Given the description of an element on the screen output the (x, y) to click on. 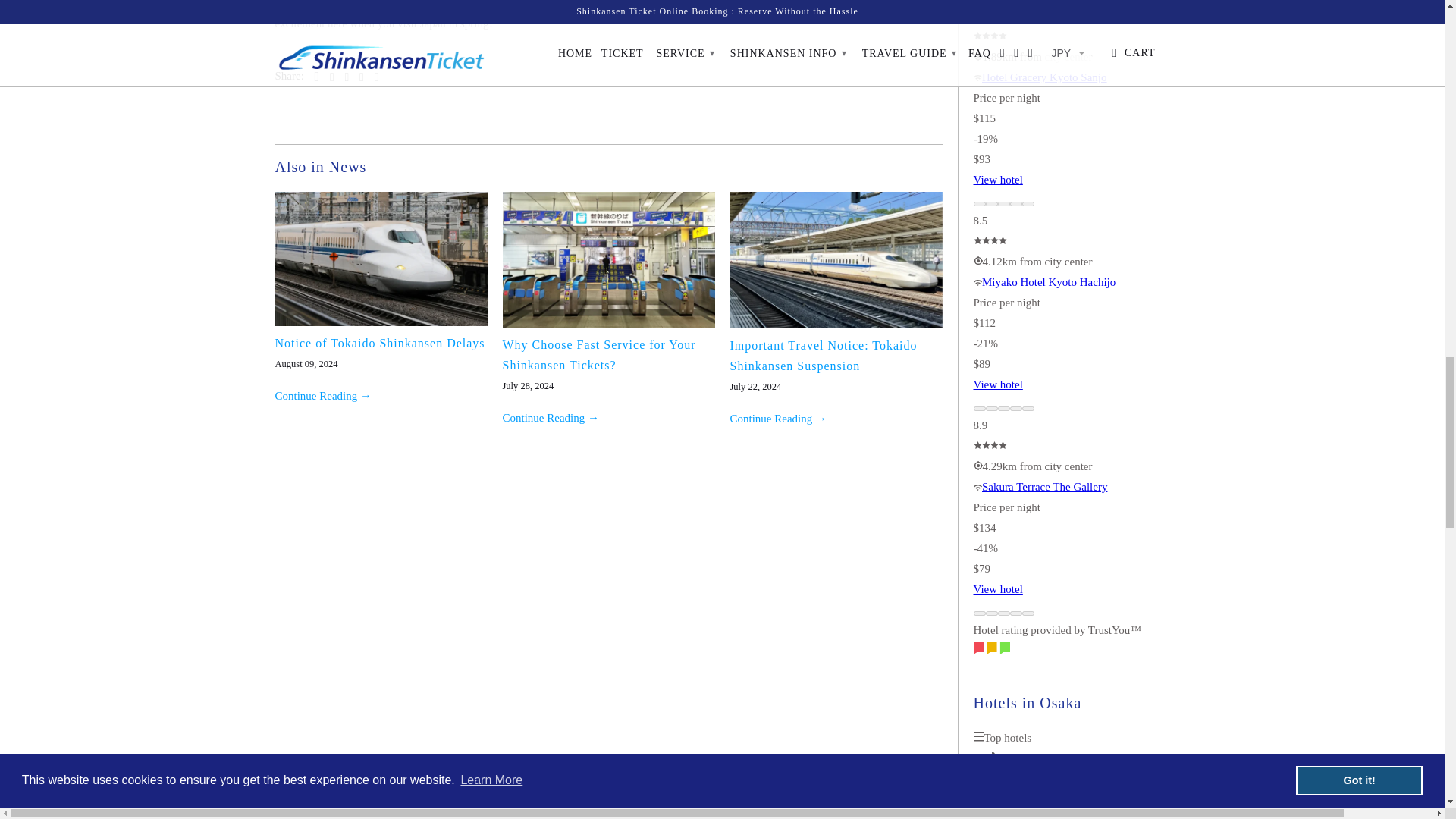
Important Travel Notice: Tokaido Shinkansen Suspension (835, 324)
Important Travel Notice: Tokaido Shinkansen Suspension (823, 355)
Why Choose Fast Service for Your Shinkansen Tickets? (550, 417)
Share this on Facebook (327, 76)
Notice of Tokaido Shinkansen Delays (323, 395)
Why Choose Fast Service for Your Shinkansen Tickets? (608, 323)
Email this to a friend (372, 76)
Why Choose Fast Service for Your Shinkansen Tickets? (598, 354)
Share this on Pinterest (342, 76)
Notice of Tokaido Shinkansen Delays (379, 342)
